Given the description of an element on the screen output the (x, y) to click on. 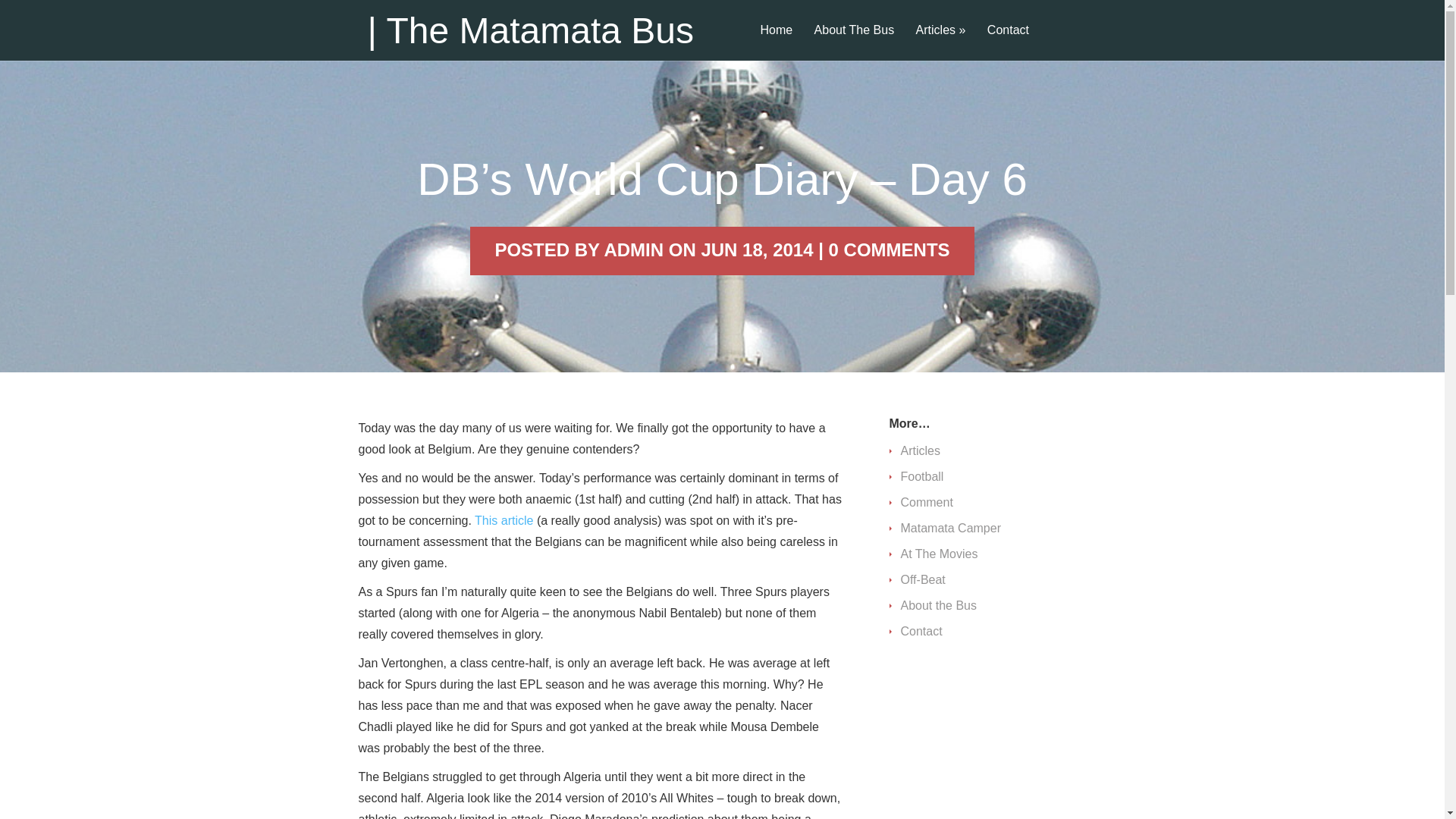
Contact (1008, 42)
Home (776, 42)
Articles (941, 42)
About The Bus (854, 42)
